Given the description of an element on the screen output the (x, y) to click on. 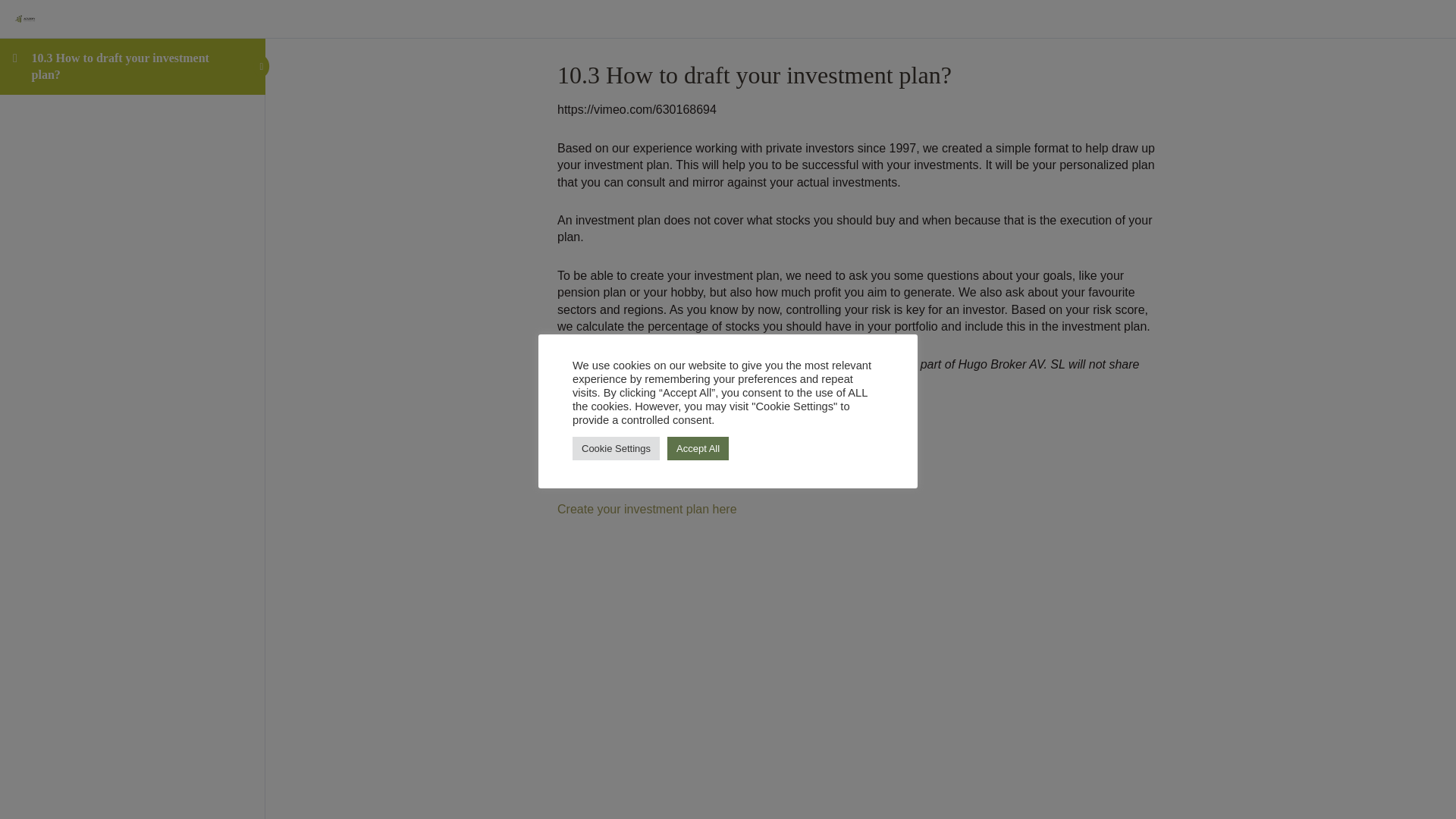
Cookie Settings (615, 448)
privacy policy (723, 419)
10.3 How to draft your investment plan? (120, 66)
Accept All (697, 448)
Create your investment plan here (646, 517)
